Given the description of an element on the screen output the (x, y) to click on. 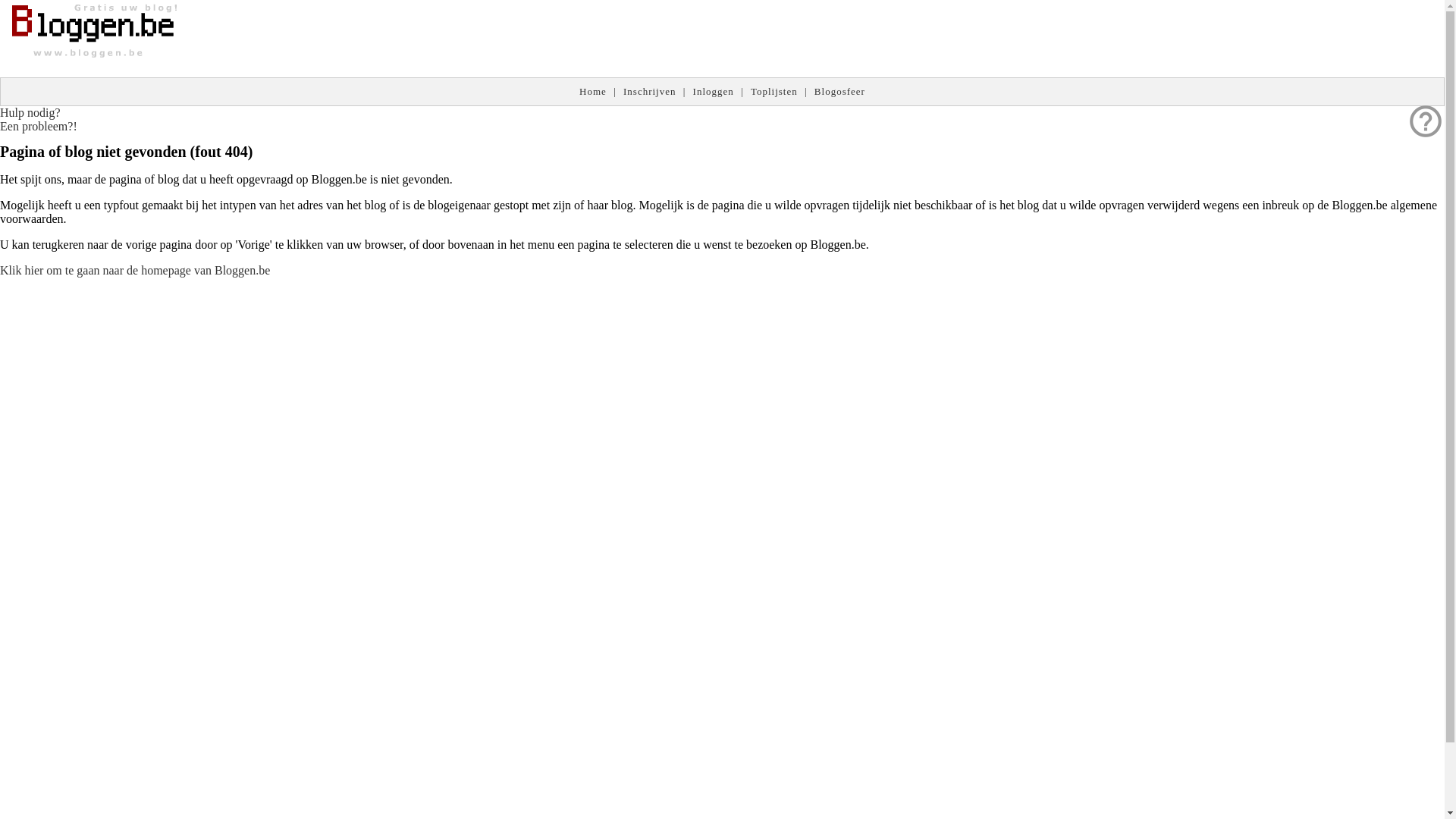
Inschrijven Element type: text (649, 91)
Toplijsten Element type: text (773, 91)
Blogosfeer Element type: text (839, 91)
Klik hier om te gaan naar de homepage van Bloggen.be Element type: text (134, 269)
Inloggen Element type: text (713, 91)
help_outline
Hulp nodig?
Een probleem?! Element type: text (38, 119)
Home Element type: text (592, 91)
